Given the description of an element on the screen output the (x, y) to click on. 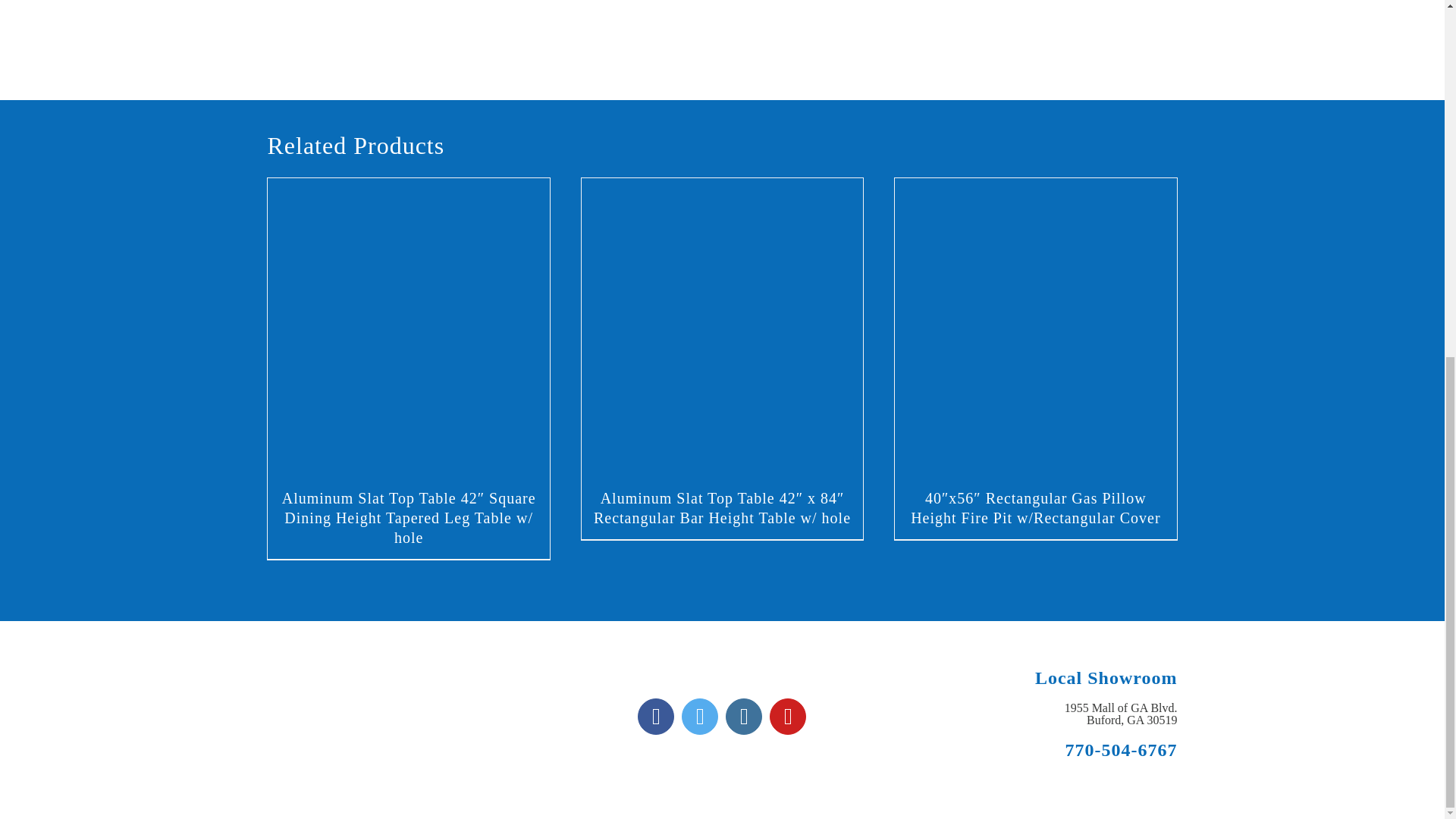
Instagram (743, 716)
Twitter (699, 716)
Facebook (655, 716)
YouTube (788, 716)
American Casual Living (380, 716)
